Given the description of an element on the screen output the (x, y) to click on. 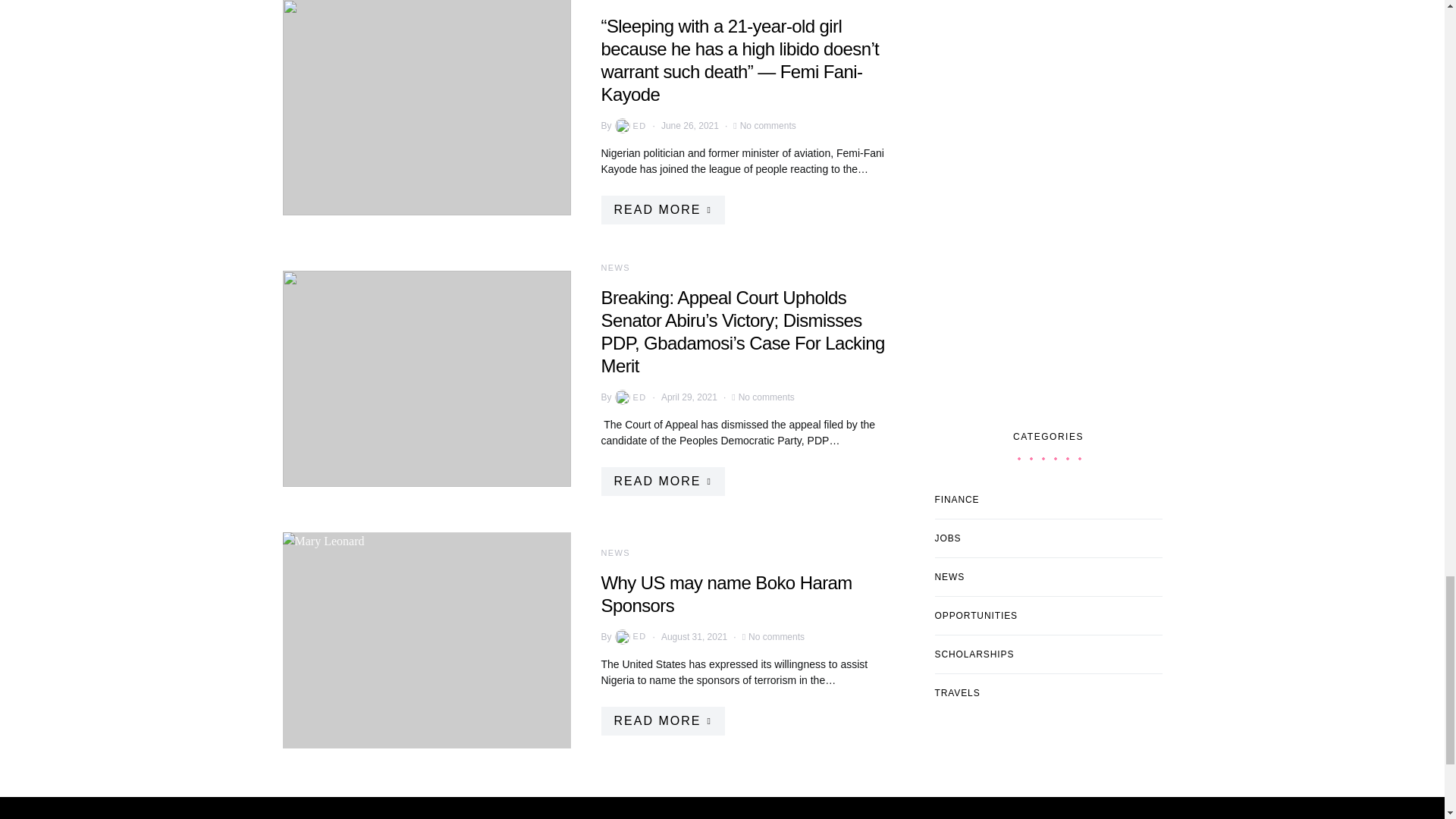
View all posts by ED (628, 636)
View all posts by ED (628, 396)
View all posts by ED (628, 125)
